Given the description of an element on the screen output the (x, y) to click on. 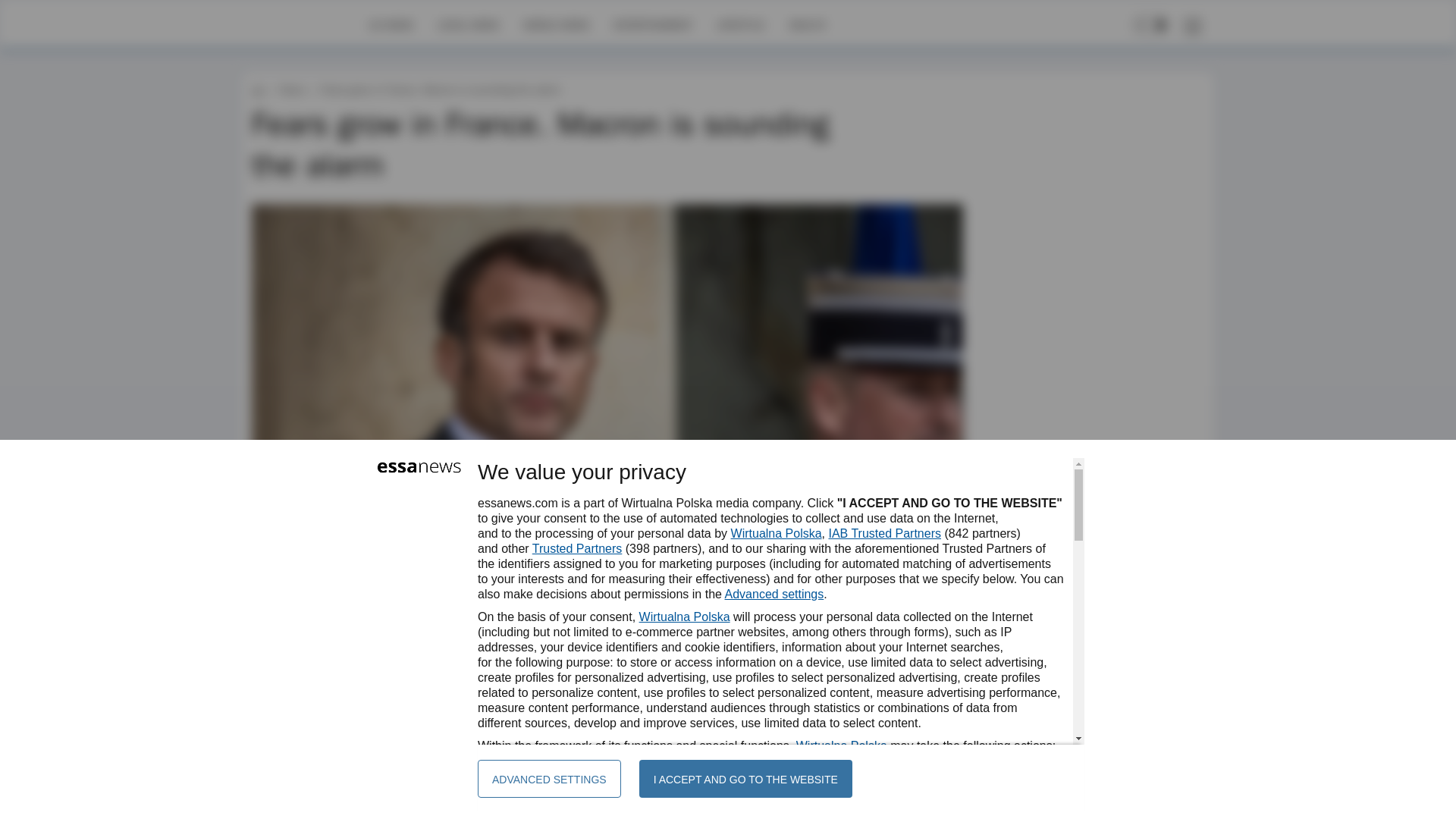
HEALTH (807, 24)
News (291, 89)
essanews.com (257, 89)
SHARE (936, 649)
RAM (320, 641)
News (291, 89)
LOCAL NEWS (468, 24)
Homepage (305, 24)
LIFESTYLE (740, 24)
US NEWS (390, 24)
WORLD NEWS (555, 24)
ENTERTAINMENT (652, 24)
RAM (320, 641)
